Given the description of an element on the screen output the (x, y) to click on. 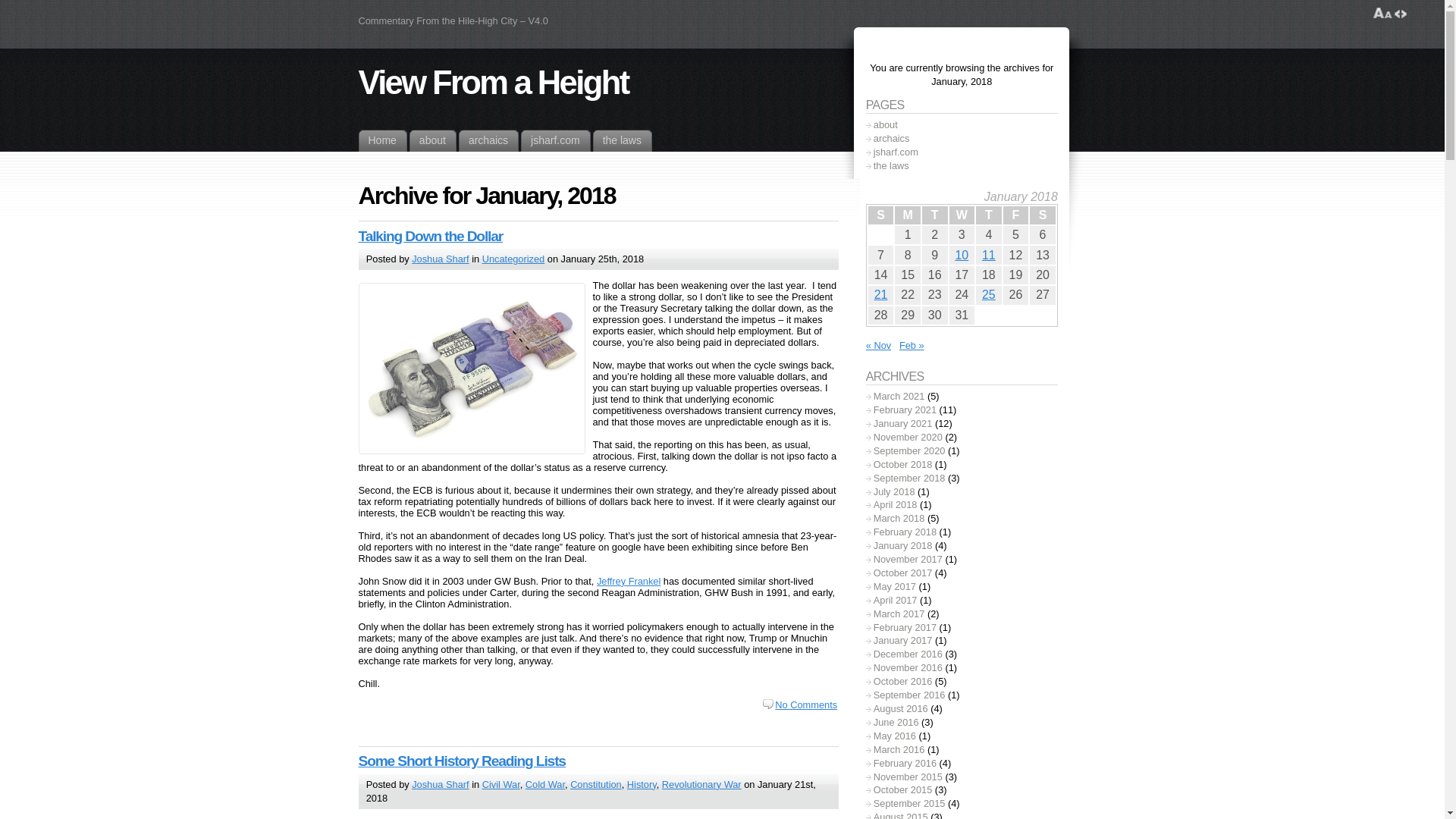
Uncategorized (512, 258)
Thursday (988, 215)
about (433, 140)
Sunday (880, 215)
Tuesday (934, 215)
Wednesday (962, 215)
Posts by Joshua Sharf  (440, 784)
View From a Height (492, 82)
jsharf.com (556, 140)
the laws (622, 140)
Talking Down the Dollar (430, 236)
Click for Home (382, 140)
No Comments (799, 704)
Posts by Joshua Sharf  (440, 258)
Permanent Link: Talking Down the Dollar (430, 236)
